Given the description of an element on the screen output the (x, y) to click on. 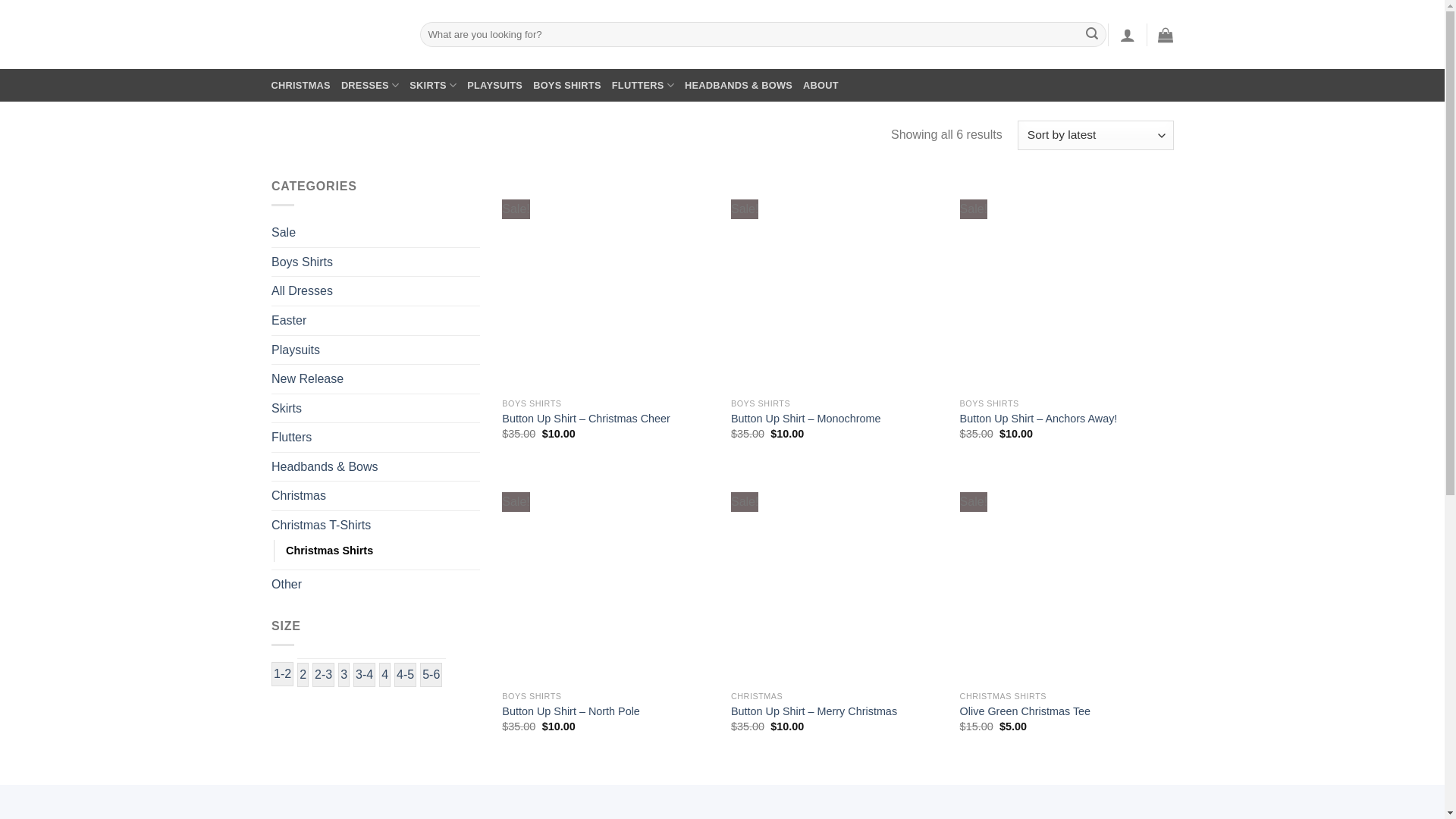
ABOUT Element type: text (820, 84)
New Release Element type: text (375, 378)
Boys Shirts Element type: text (375, 261)
FLUTTERS Element type: text (642, 85)
Flutters Element type: text (375, 437)
Skirts Element type: text (375, 408)
BOYS SHIRTS Element type: text (567, 84)
Christmas Element type: text (375, 495)
Olive Green Christmas Tee Element type: text (1025, 711)
My Little Threads Element type: hover (334, 34)
4 Element type: text (384, 674)
All Dresses Element type: text (375, 290)
SKIRTS Element type: text (432, 85)
3 Element type: text (343, 674)
2-3 Element type: text (323, 674)
2 Element type: text (302, 674)
DRESSES Element type: text (369, 85)
PLAYSUITS Element type: text (494, 84)
Sale Element type: text (375, 232)
CHRISTMAS Element type: text (300, 84)
Headbands & Bows Element type: text (375, 466)
1-2 Element type: text (282, 674)
3-4 Element type: text (364, 674)
Christmas Shirts Element type: text (328, 550)
Search Element type: text (1091, 34)
Easter Element type: text (375, 320)
Cart Element type: hover (1165, 34)
4-5 Element type: text (405, 674)
Other Element type: text (375, 584)
Christmas T-Shirts Element type: text (375, 525)
5-6 Element type: text (431, 674)
Playsuits Element type: text (375, 349)
HEADBANDS & BOWS Element type: text (738, 84)
Skip to content Element type: text (0, 0)
